Given the description of an element on the screen output the (x, y) to click on. 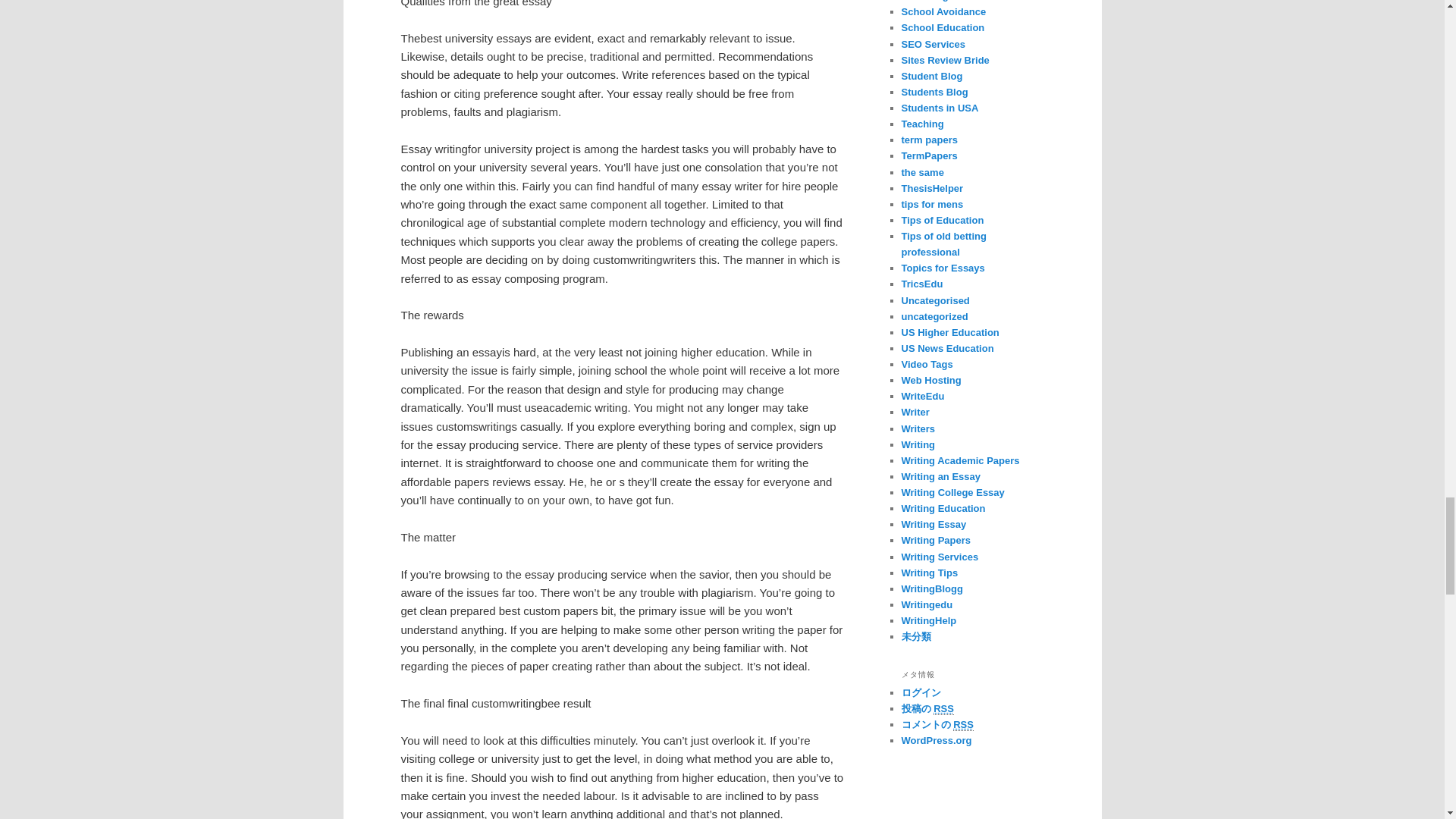
Really Simple Syndication (943, 708)
Really Simple Syndication (963, 725)
